Given the description of an element on the screen output the (x, y) to click on. 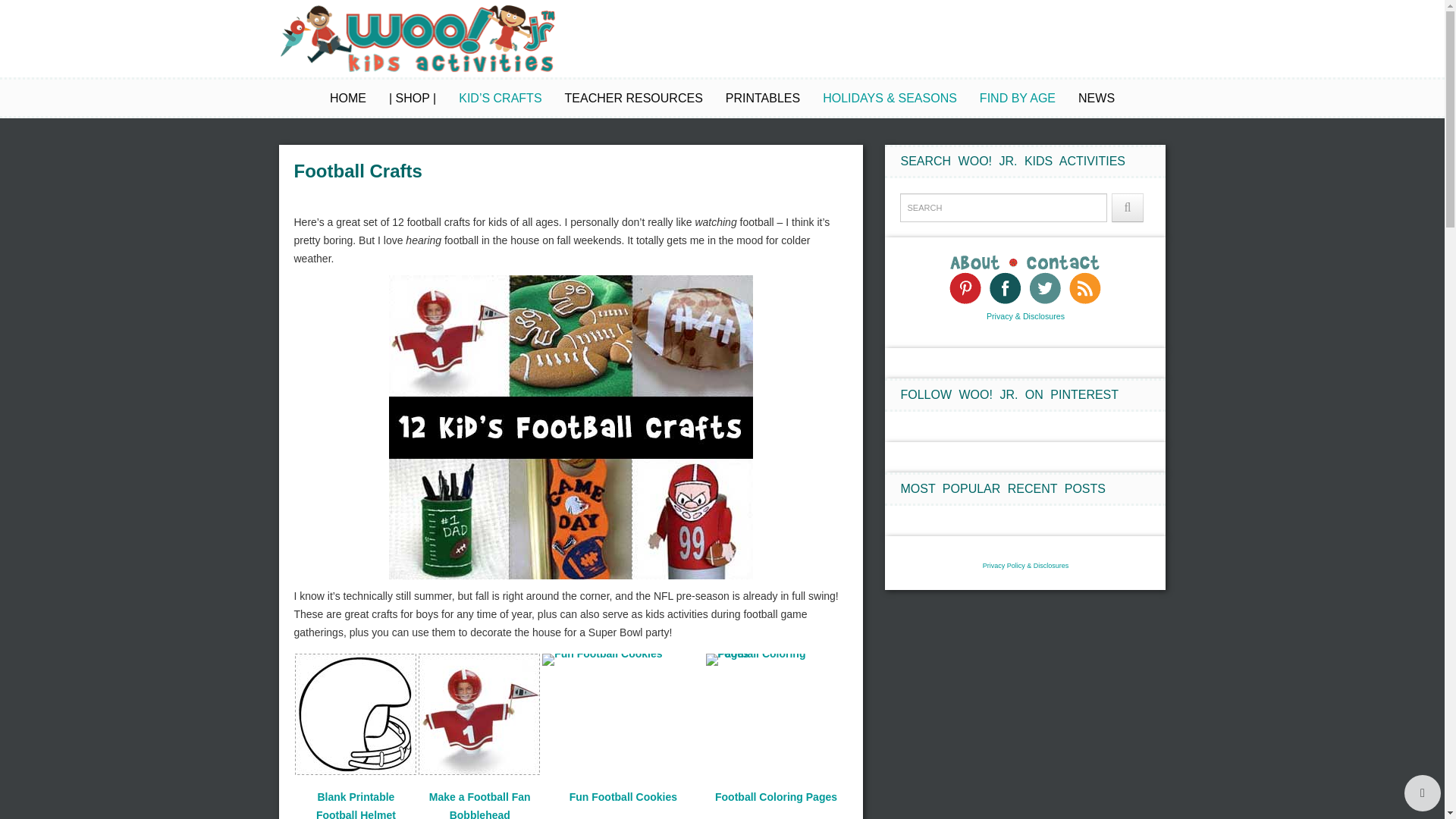
Football Coloring Pages (775, 797)
Fun Football Cookies (601, 659)
Shop the Woo! Jr. Kids E-Book Store! (411, 98)
HOME (348, 98)
Football Coloring Pages (776, 662)
PRINTABLES (762, 98)
Football Coloring Pages (770, 659)
Decorate a Football Helmet (360, 717)
TEACHER RESOURCES (633, 98)
Decorate a Football Helmet (355, 805)
